Given the description of an element on the screen output the (x, y) to click on. 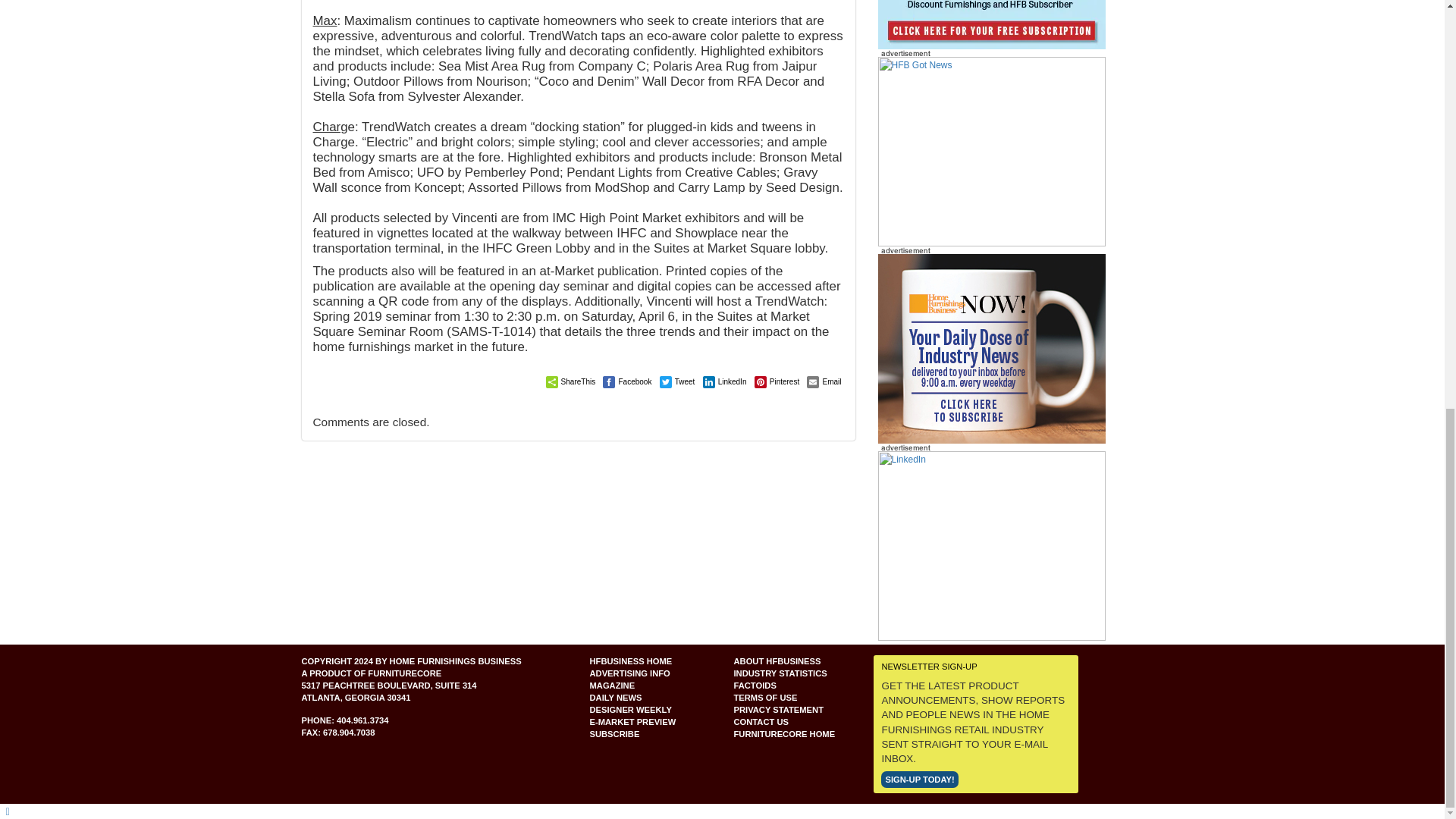
HFB Designer Weekly (991, 347)
HFB Subscribe IHeart (991, 151)
HFB Subscribe (991, 348)
HFB Subscribe IHeart Schell (991, 24)
HFB Got News (991, 150)
